Given the description of an element on the screen output the (x, y) to click on. 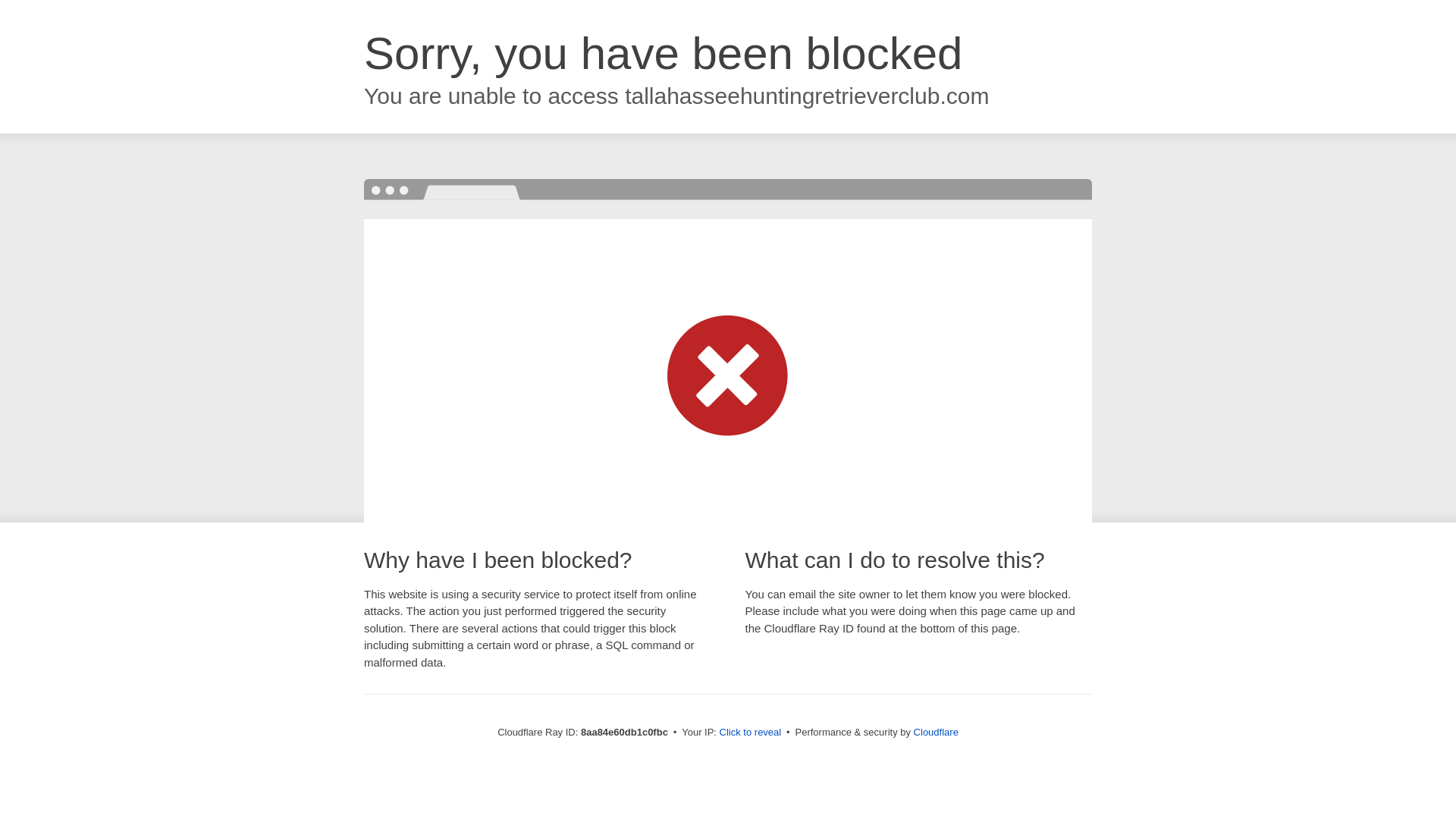
Click to reveal (750, 732)
Cloudflare (936, 731)
